Given the description of an element on the screen output the (x, y) to click on. 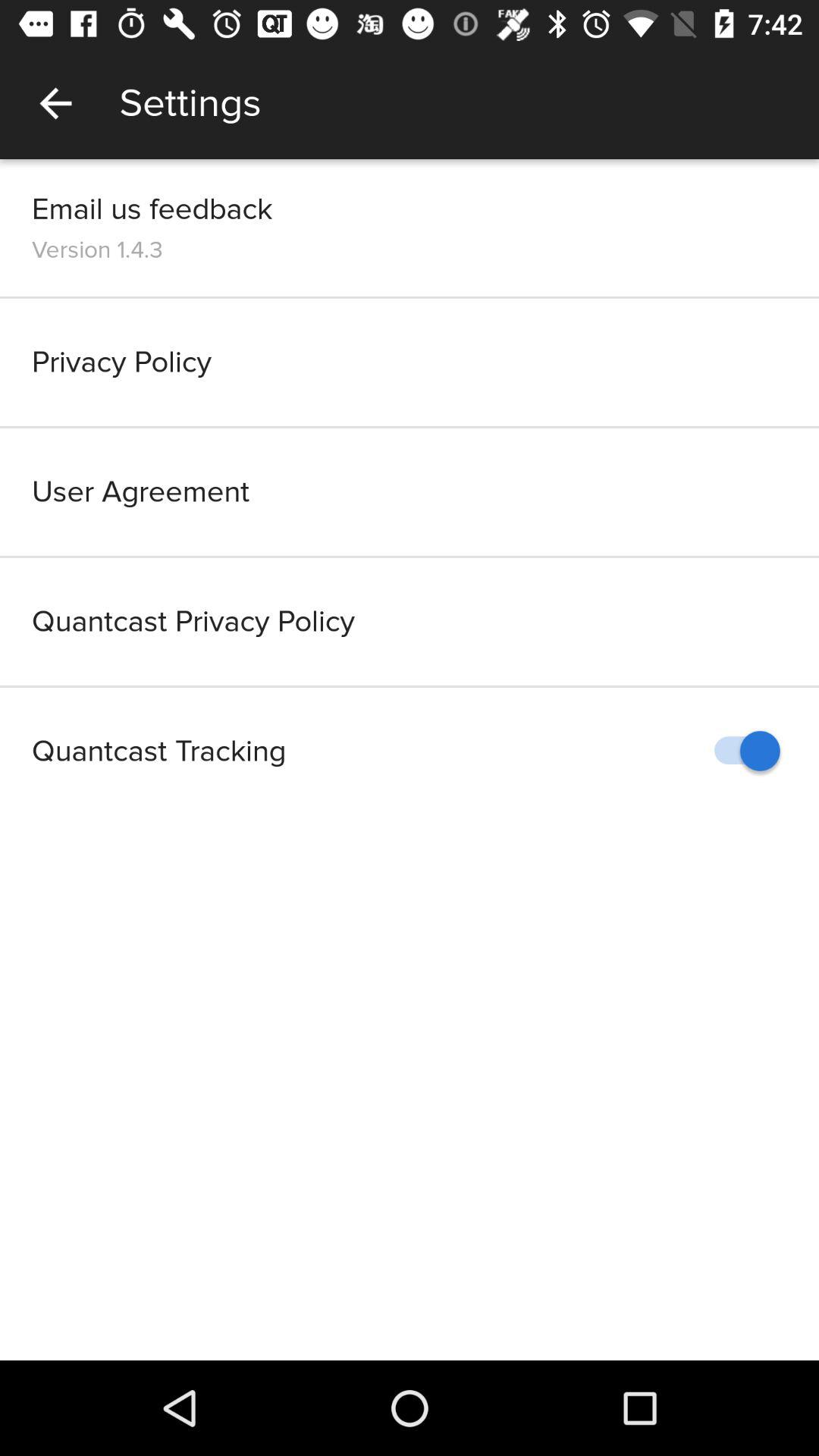
swipe to the user agreement item (409, 491)
